Given the description of an element on the screen output the (x, y) to click on. 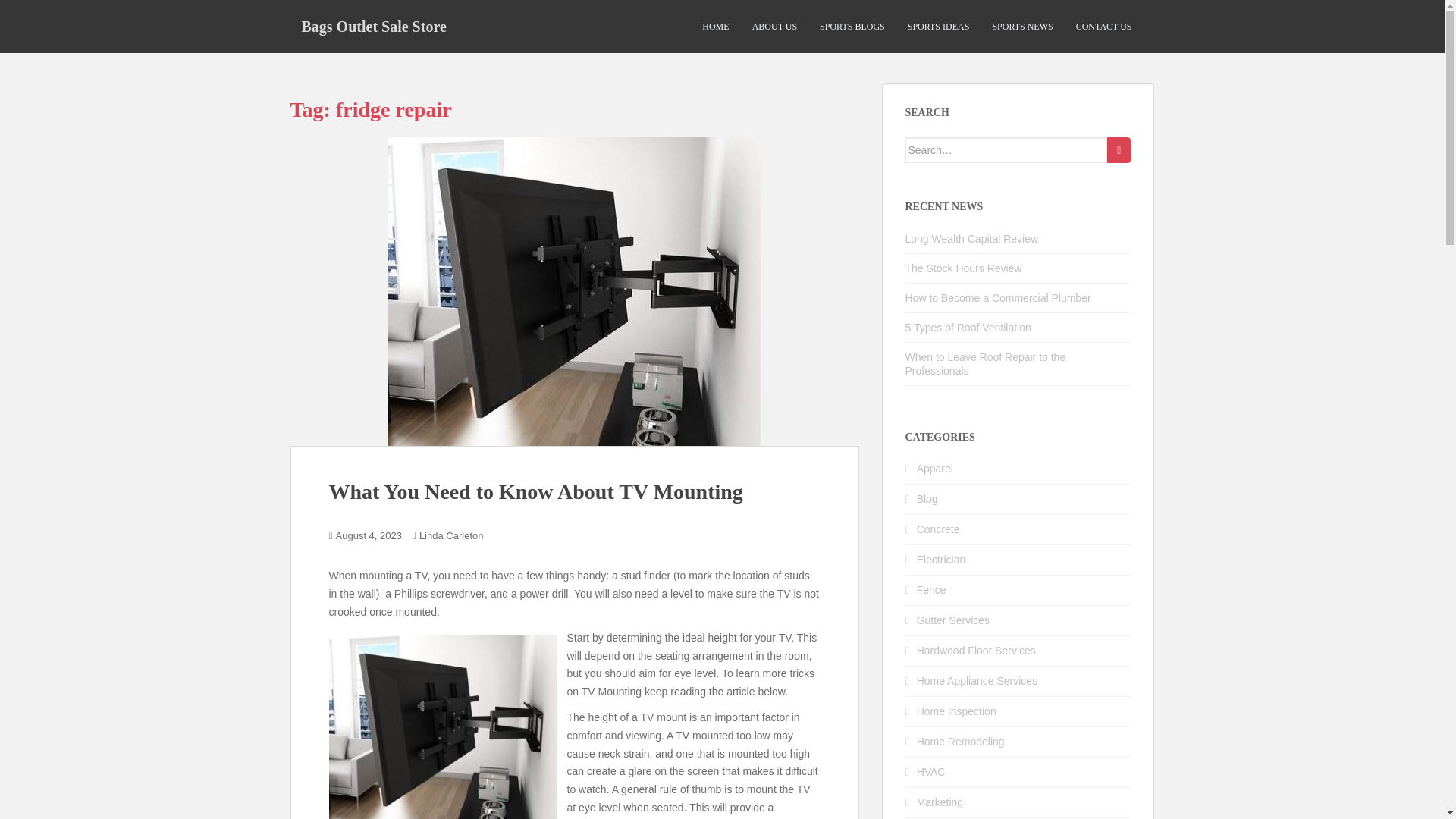
SPORTS BLOGS (852, 26)
Fence (931, 589)
Gutter Services (953, 620)
Apparel (935, 468)
How to Become a Commercial Plumber (997, 297)
SPORTS IDEAS (938, 26)
HVAC (930, 771)
Home Appliance Services (977, 680)
Long Wealth Capital Review (972, 238)
Bags Outlet Sale Store (373, 26)
Search (1118, 149)
Electrician (941, 559)
Hardwood Floor Services (976, 650)
CONTACT US (1103, 26)
Linda Carleton (451, 535)
